Given the description of an element on the screen output the (x, y) to click on. 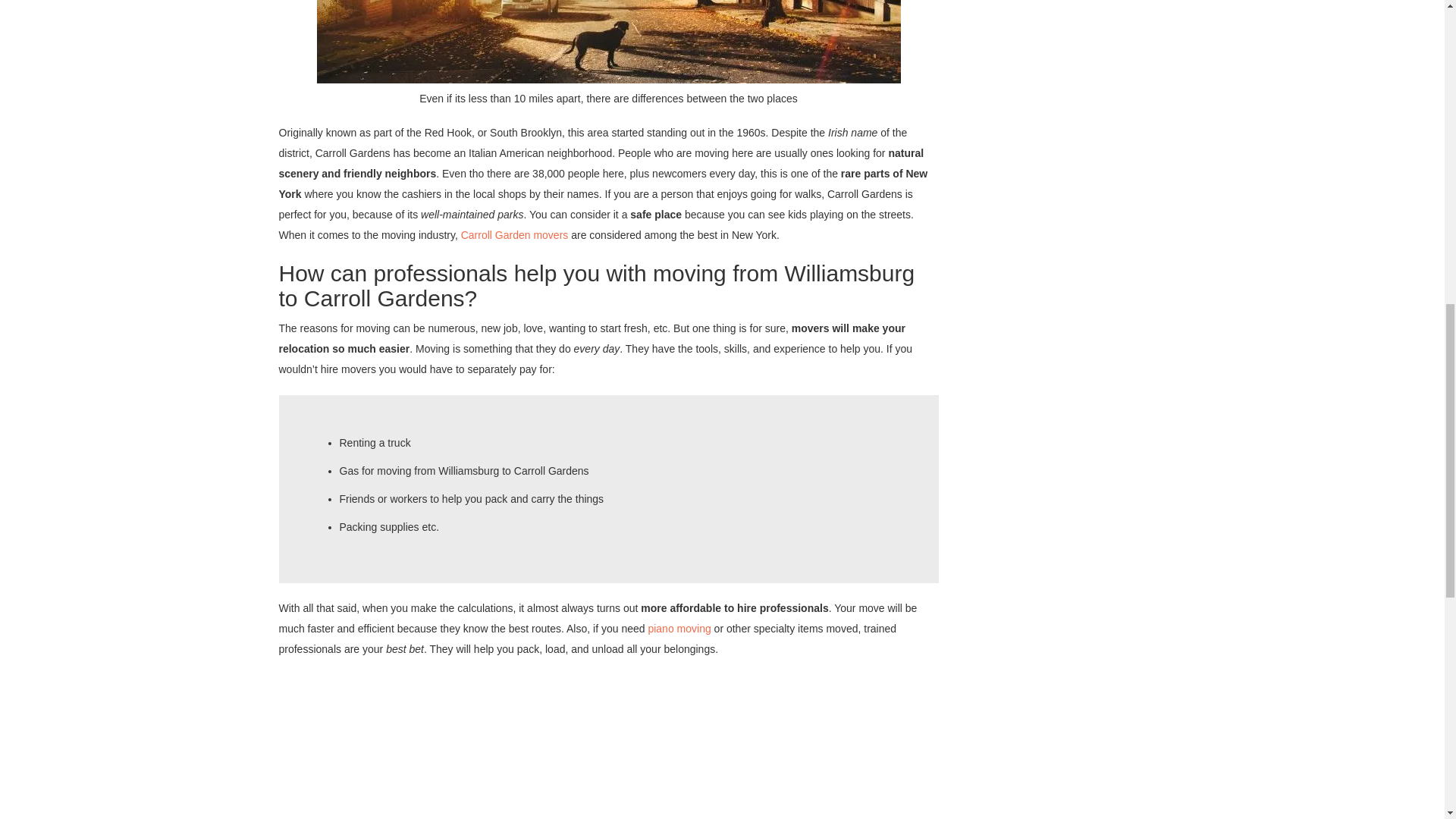
piano moving (678, 628)
Carroll Garden movers (515, 234)
